Given the description of an element on the screen output the (x, y) to click on. 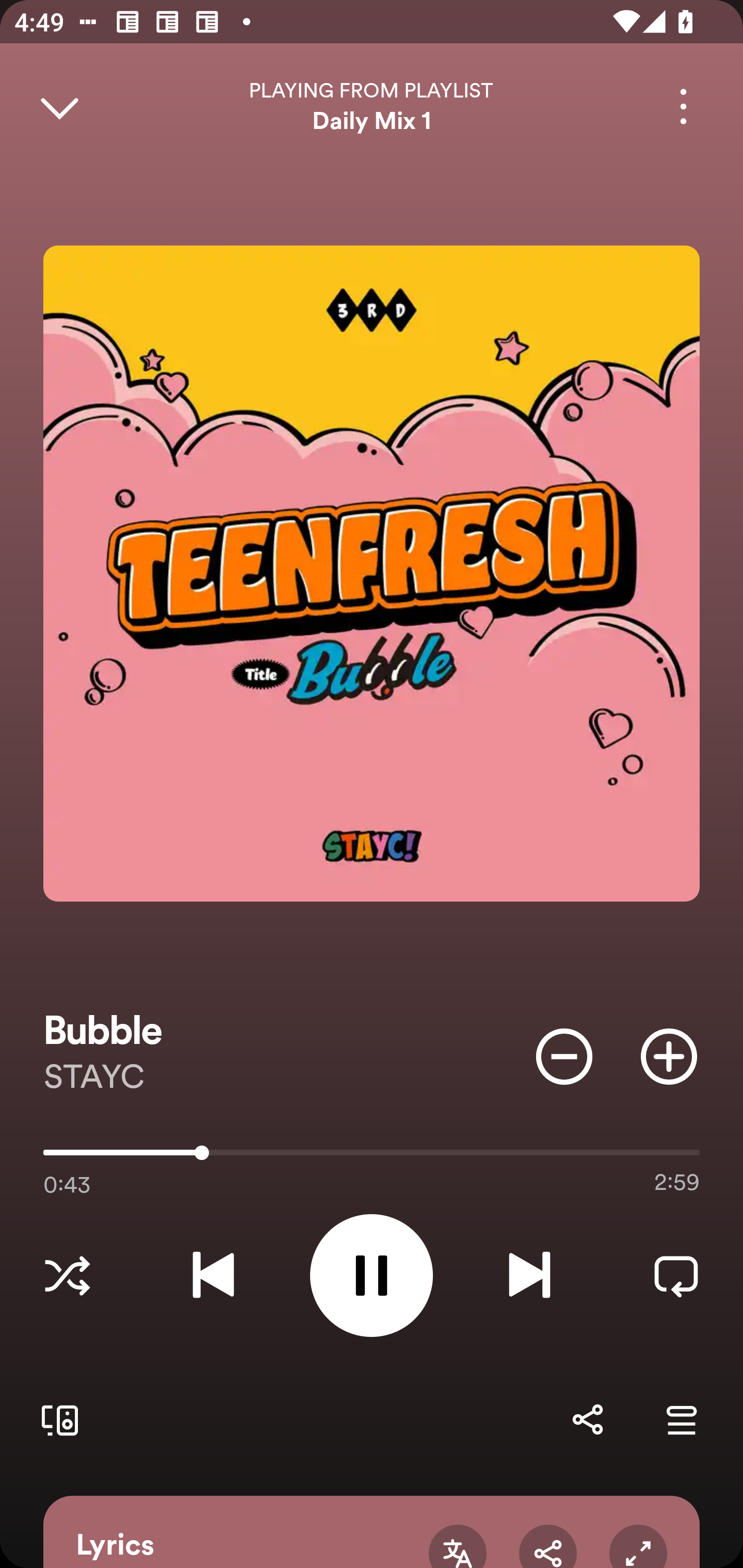
Close (59, 106)
More options for song Bubble (683, 106)
PLAYING FROM PLAYLIST Daily Mix 1 (371, 106)
Don't play this (564, 1056)
Add item (669, 1056)
0:42 2:59 42964.0 Use volume keys to adjust (371, 1157)
Pause (371, 1275)
Previous (212, 1275)
Next (529, 1275)
Shuffle tracks (66, 1275)
Repeat (676, 1275)
Share (587, 1419)
Go to Queue (681, 1419)
Connect to a device. Opens the devices menu (55, 1419)
Lyrics Translate Share Expand (371, 1531)
Translate (457, 1546)
Share (547, 1546)
Expand (638, 1546)
